Given the description of an element on the screen output the (x, y) to click on. 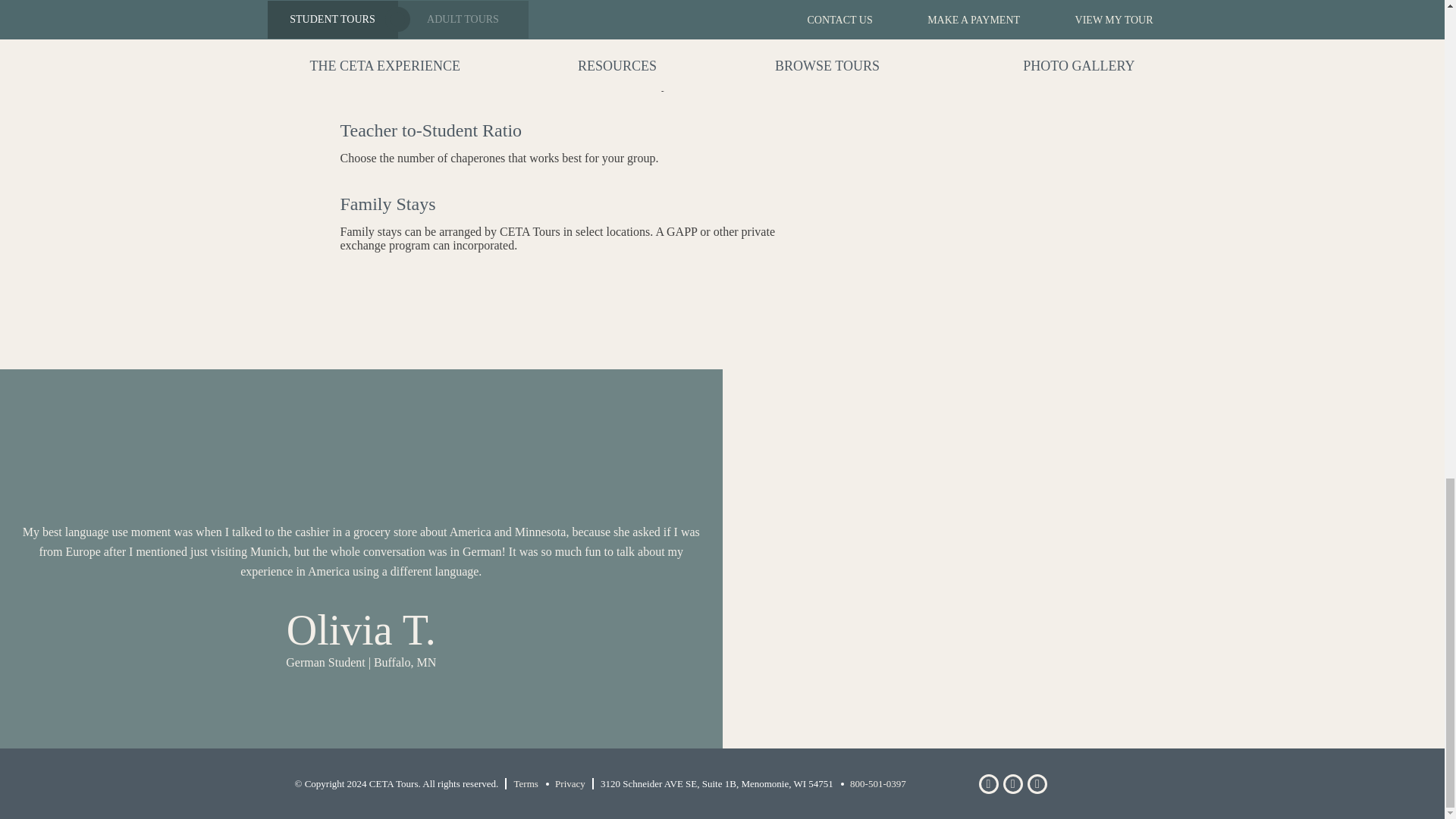
Privacy (562, 782)
800-501-0397 (870, 782)
Terms (525, 782)
